Given the description of an element on the screen output the (x, y) to click on. 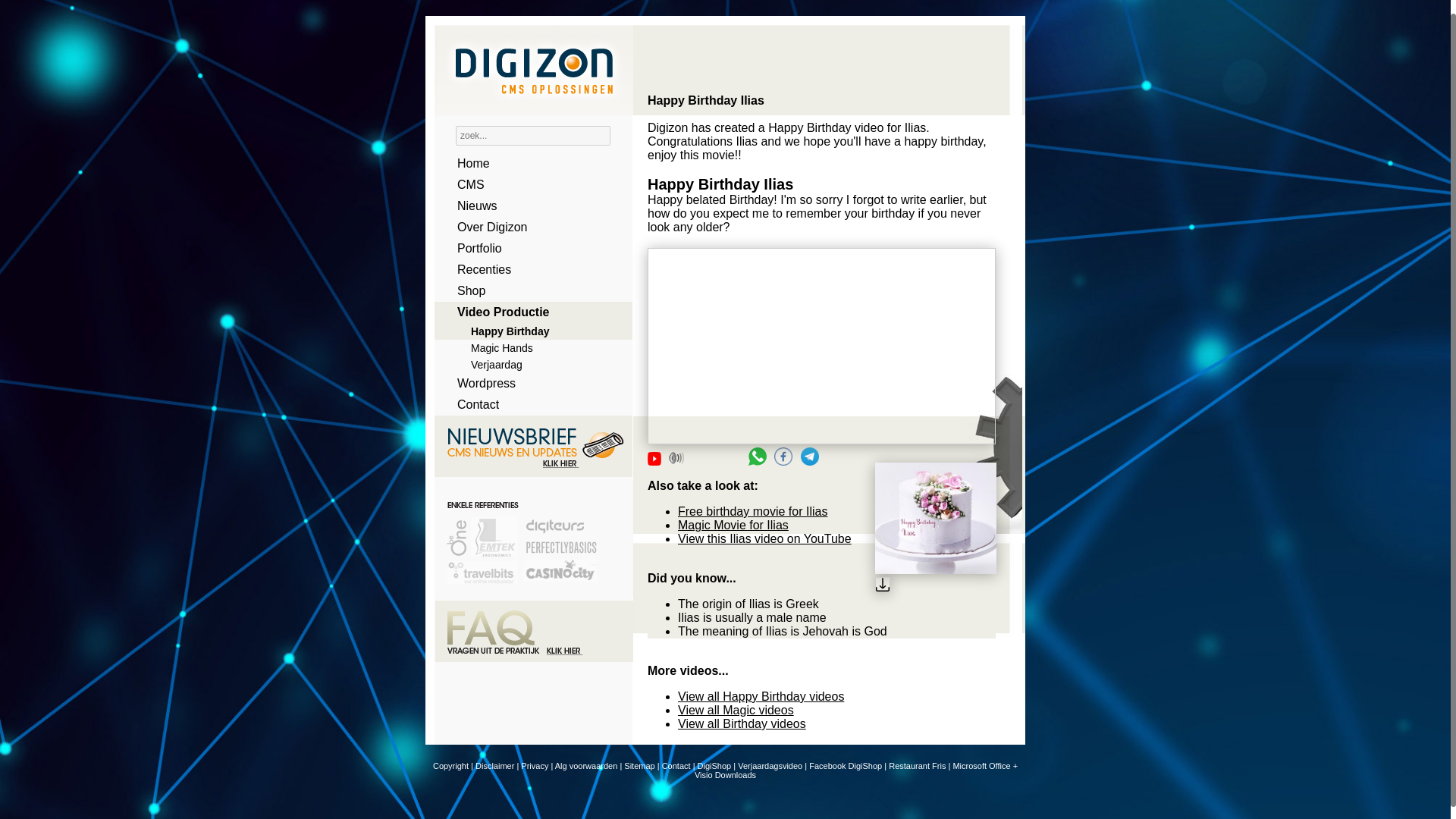
Over Digizon (528, 227)
Facebook DigiShop (845, 765)
Verjaardagsvideo (770, 765)
Happy Birthday (528, 330)
Restaurant Fris (916, 765)
Magic Hands (528, 347)
Recenties (528, 269)
Sitemap (638, 765)
Video Productie (528, 312)
Home (528, 163)
Free birthday movie for Ilias (752, 511)
Portfolio (528, 248)
View all Magic videos (735, 709)
CMS (528, 184)
View on Youtube (654, 459)
